Given the description of an element on the screen output the (x, y) to click on. 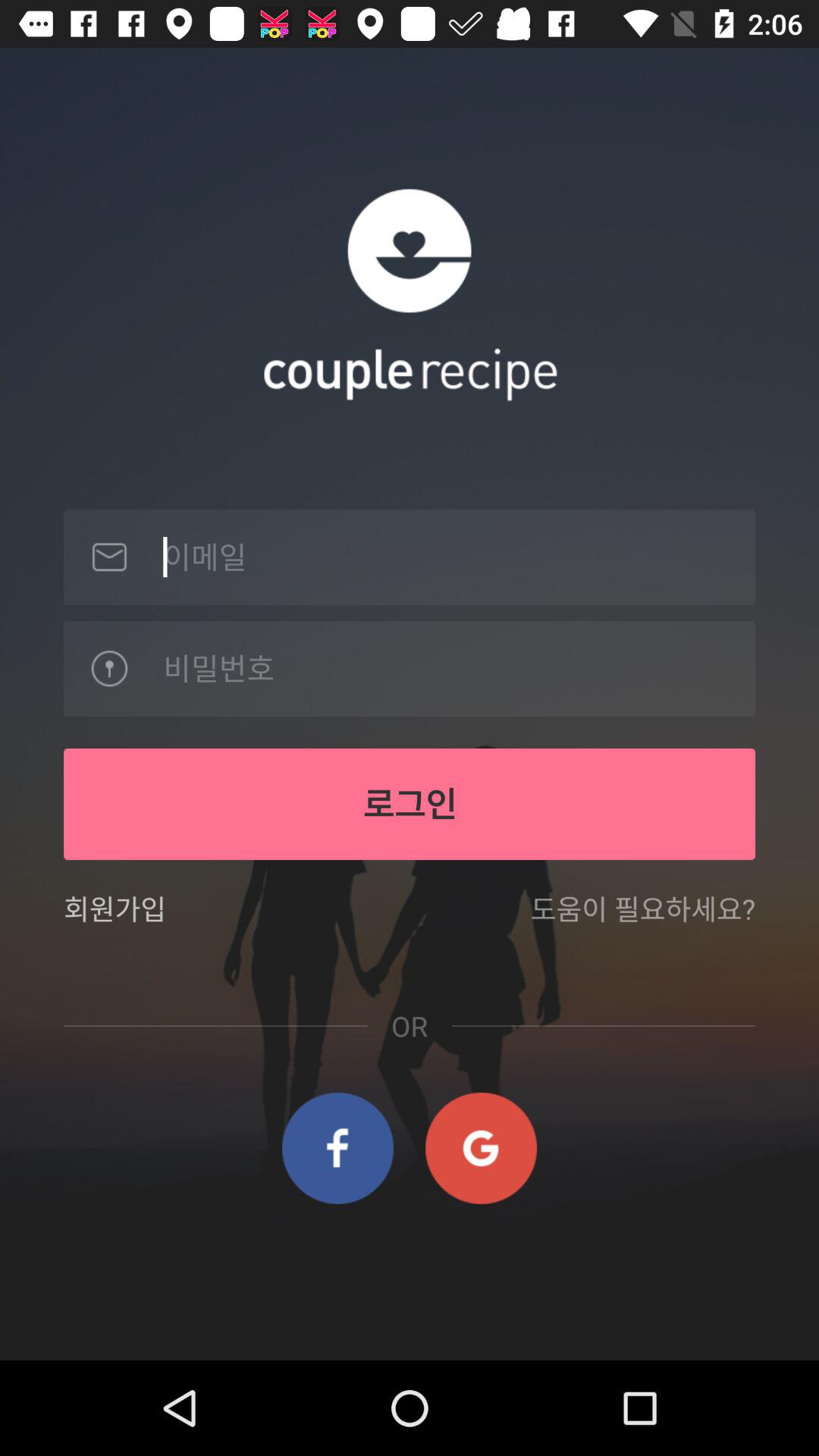
select item below the or (480, 1148)
